Given the description of an element on the screen output the (x, y) to click on. 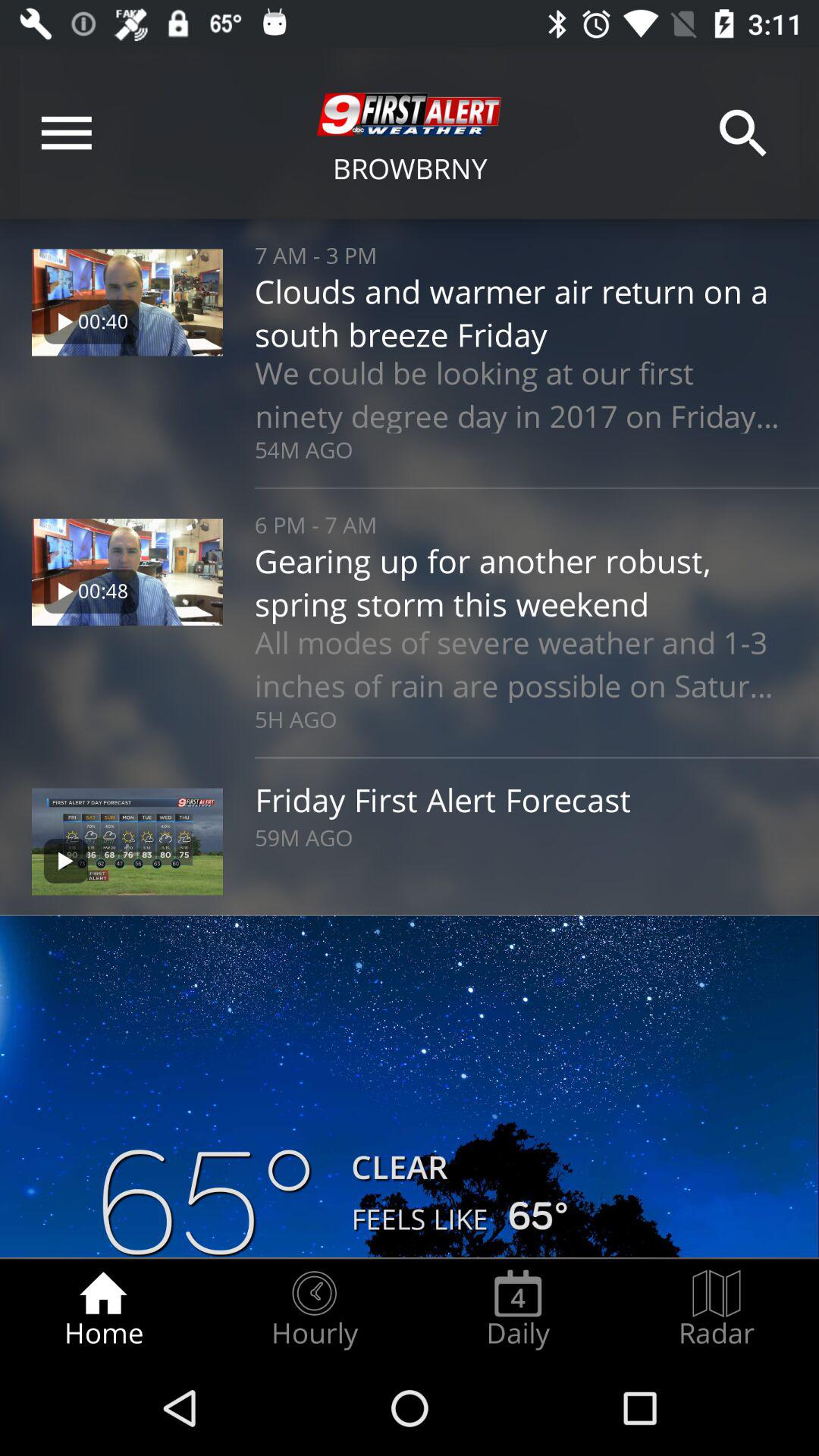
tap the radio button to the right of the daily radio button (716, 1309)
